Given the description of an element on the screen output the (x, y) to click on. 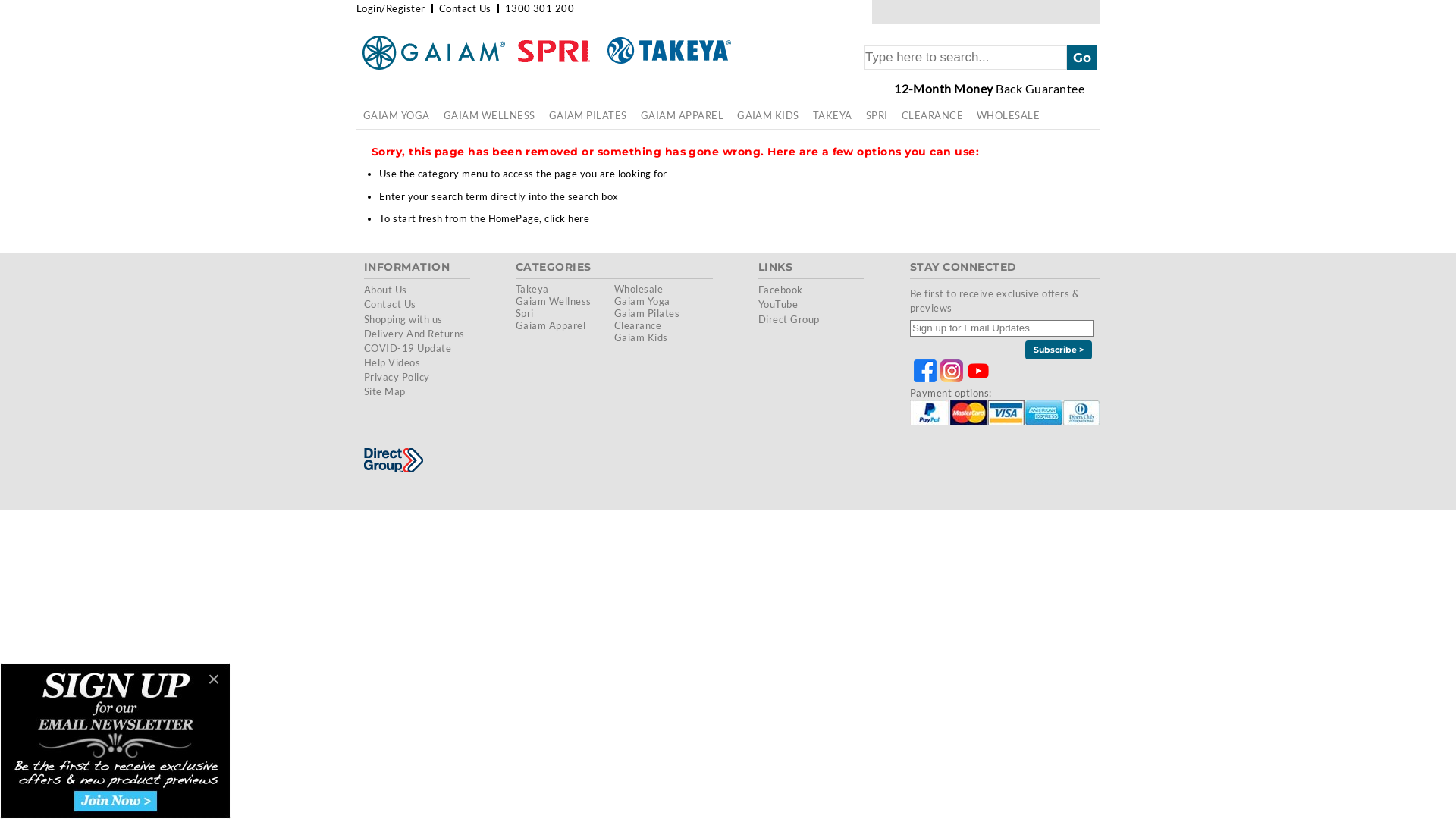
YouTube Element type: text (777, 304)
TAKEYA Element type: text (832, 115)
here Element type: text (578, 218)
Gaiam Wellness Element type: text (553, 300)
GAIAM PILATES Element type: text (587, 115)
Shopping with us Element type: text (403, 318)
Go Element type: text (1081, 57)
Contact Us Element type: text (465, 8)
Gaiam Yoga Element type: text (642, 300)
COVID-19 Update Element type: text (407, 348)
Contact Us Element type: text (390, 304)
GAIAM APPAREL Element type: text (681, 115)
Delivery And Returns Element type: text (414, 333)
GAIAM KIDS Element type: text (768, 115)
GAIAM WELLNESS Element type: text (489, 115)
Clearance Element type: text (637, 325)
Help Videos Element type: text (392, 362)
Takeya Element type: text (532, 288)
Gaiam Apparel Element type: text (550, 325)
Direct Group Element type: text (788, 318)
WHOLESALE Element type: text (1007, 115)
Privacy Policy Element type: text (396, 376)
SPRI Element type: text (876, 115)
Login/Register Element type: text (390, 8)
Site Map Element type: text (384, 391)
CLEARANCE Element type: text (931, 115)
Gaiam Pilates Element type: text (646, 313)
Gaiam Kids Element type: text (641, 337)
Spri Element type: text (524, 313)
Wholesale Element type: text (638, 288)
About Us Element type: text (385, 289)
GAIAM YOGA Element type: text (396, 115)
Facebook Element type: text (780, 289)
